Given the description of an element on the screen output the (x, y) to click on. 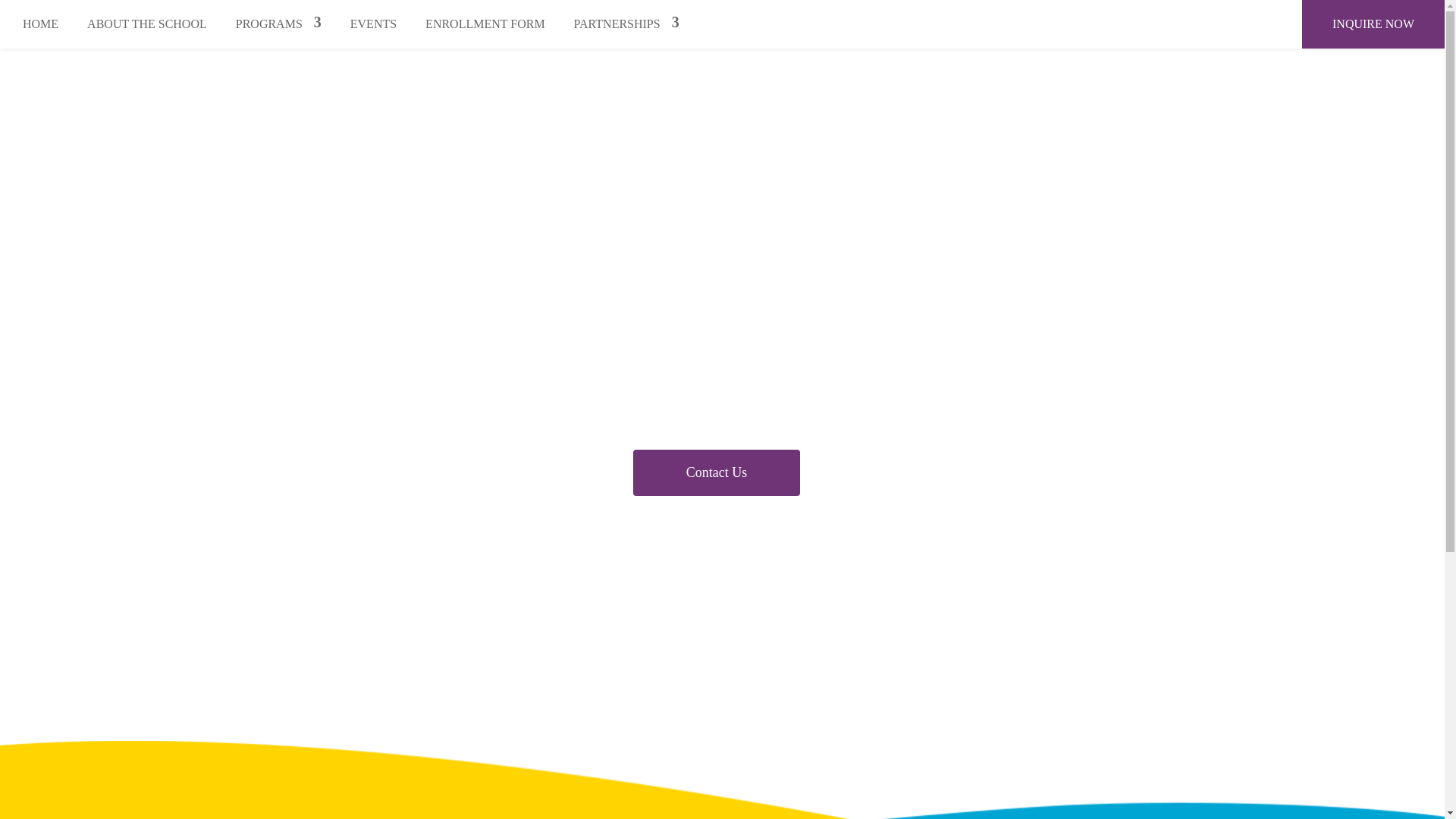
PROGRAMS (278, 24)
PARTNERSHIPS (626, 24)
Contact Us (716, 472)
ENROLLMENT FORM (484, 24)
EVENTS (373, 24)
ABOUT THE SCHOOL (146, 24)
